Given the description of an element on the screen output the (x, y) to click on. 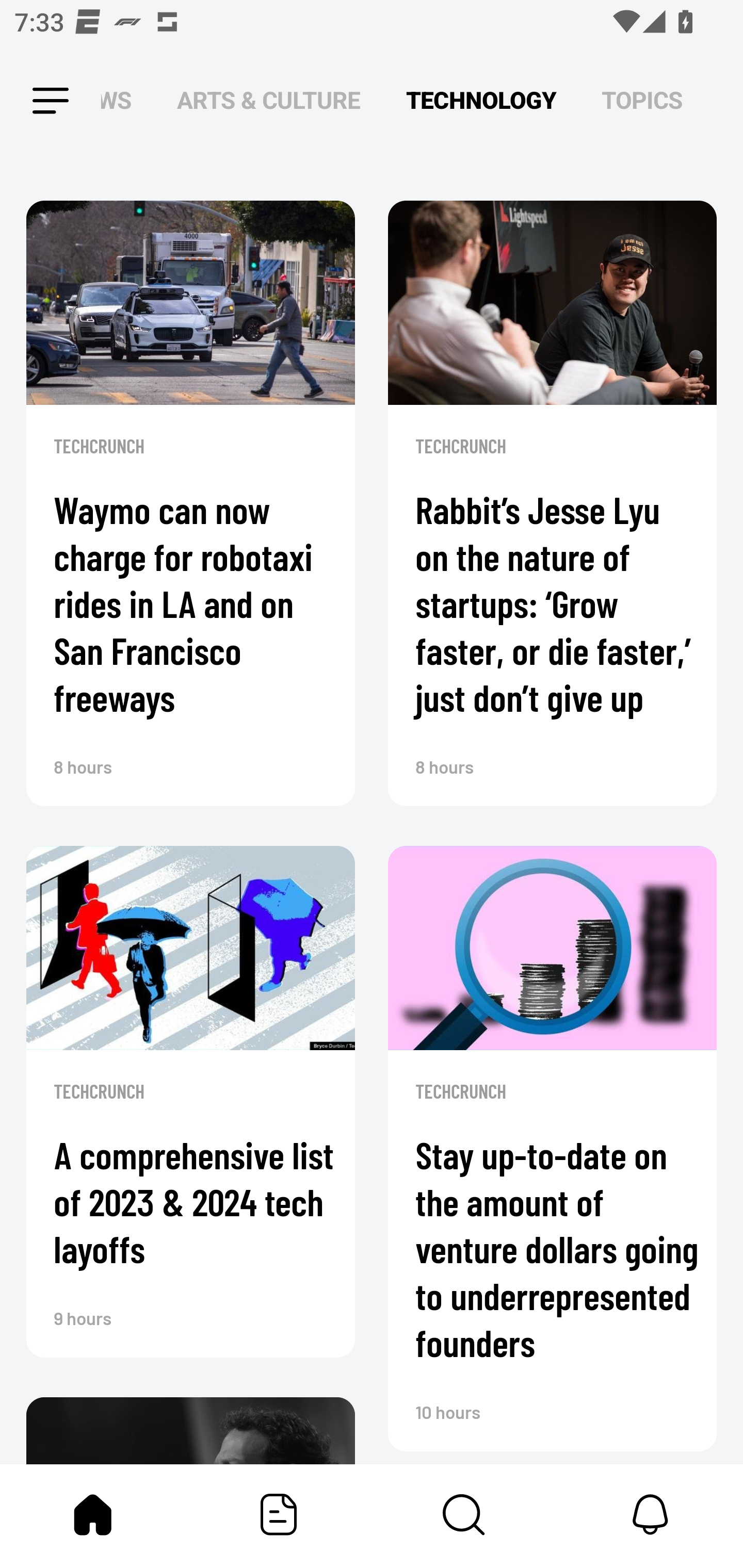
NEWS (121, 100)
ARTS & CULTURE (268, 100)
TOPICS (641, 100)
Featured (278, 1514)
Content Store (464, 1514)
Notifications (650, 1514)
